Given the description of an element on the screen output the (x, y) to click on. 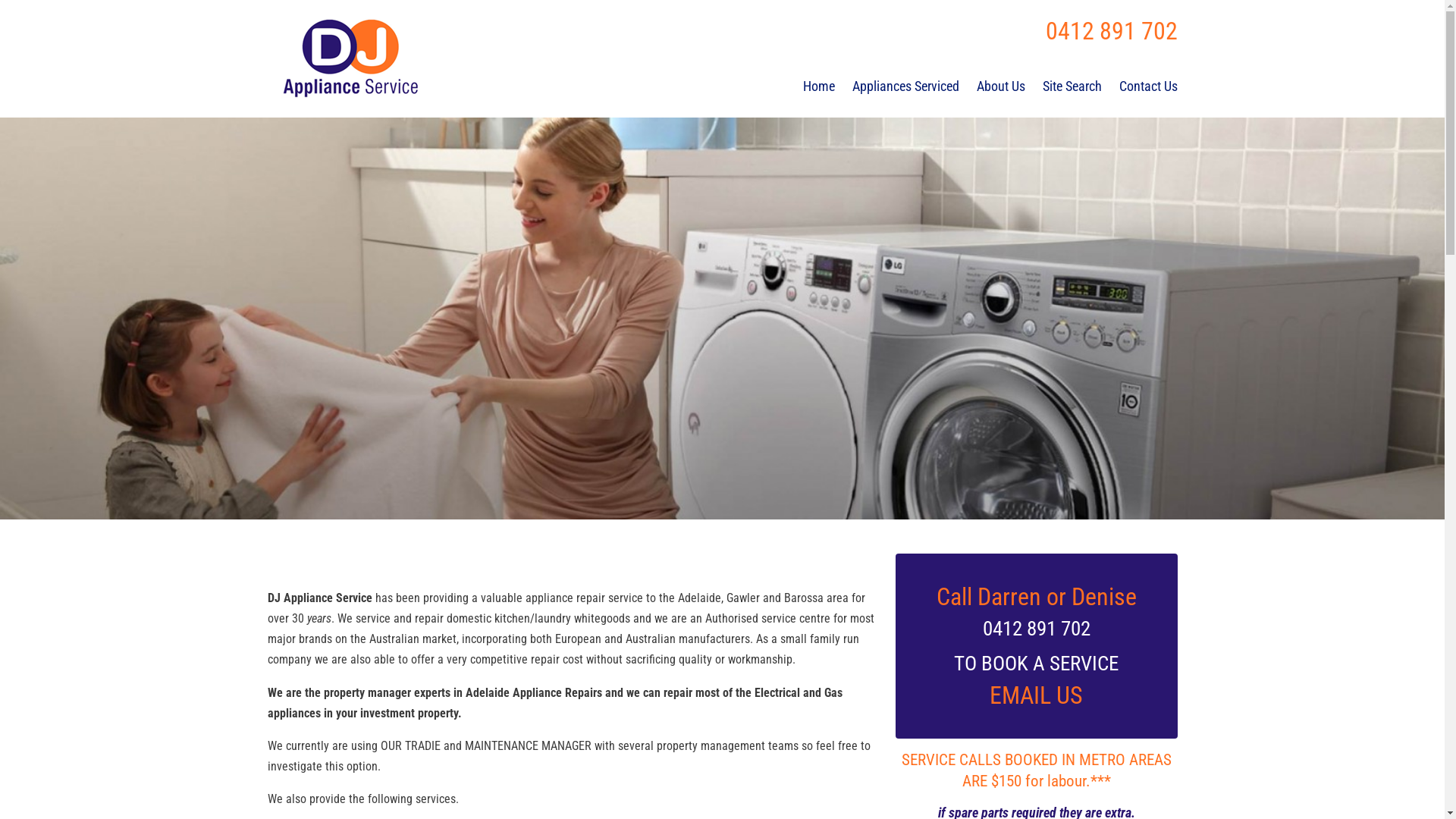
About Us Element type: text (1000, 86)
Home Element type: text (818, 86)
0412 891 702 Element type: text (1110, 30)
Appliances Serviced Element type: text (905, 86)
Contact Us Element type: text (1148, 86)
EMAIL US Element type: text (1035, 694)
Site Search Element type: text (1071, 86)
